Given the description of an element on the screen output the (x, y) to click on. 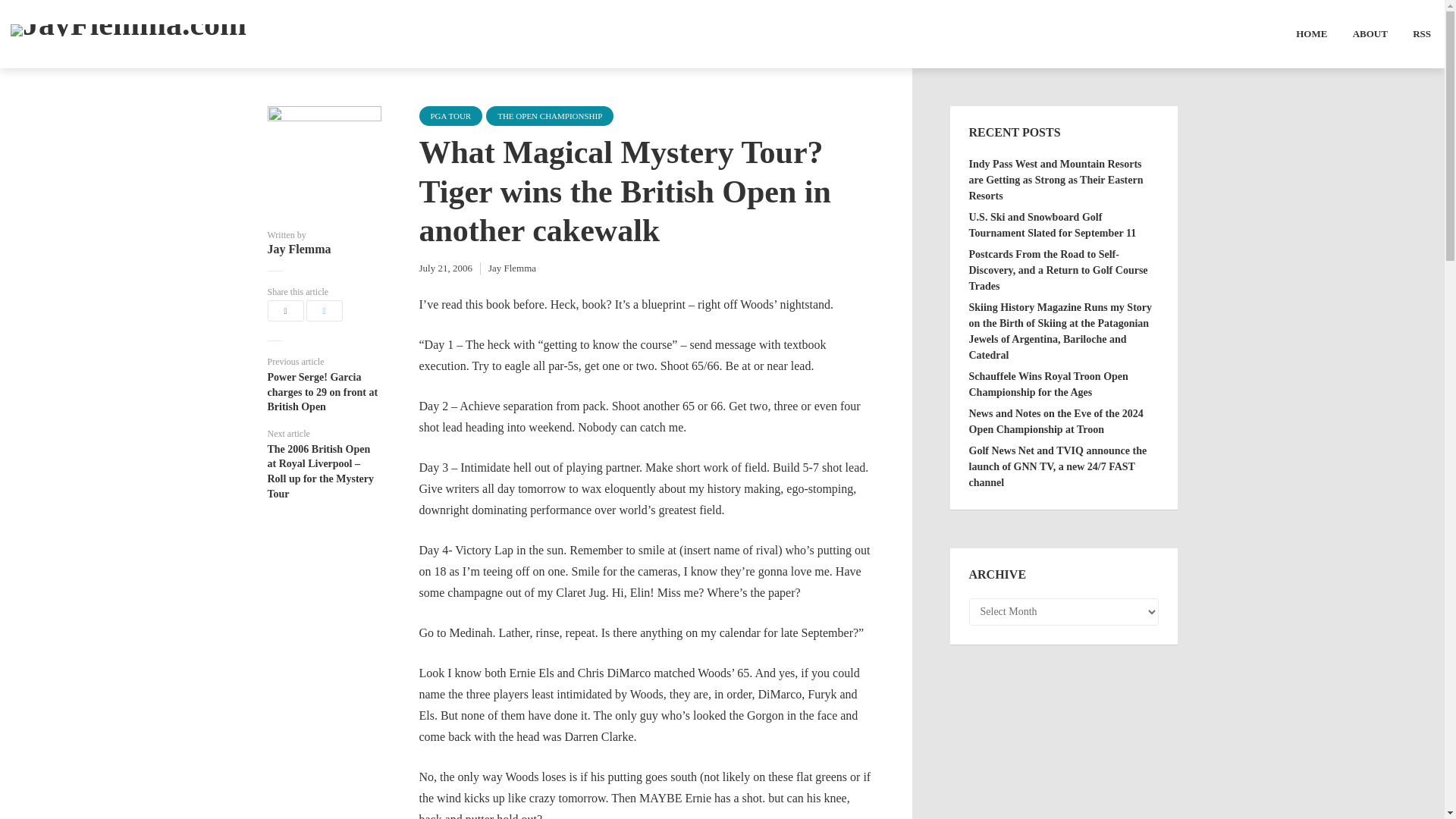
Jay Flemma (511, 267)
PGA TOUR (450, 116)
Schauffele Wins Royal Troon Open Championship for the Ages (1048, 384)
THE OPEN CHAMPIONSHIP (549, 116)
Jay Flemma (323, 249)
Power Serge! Garcia charges to 29 on front at British Open (323, 392)
